Given the description of an element on the screen output the (x, y) to click on. 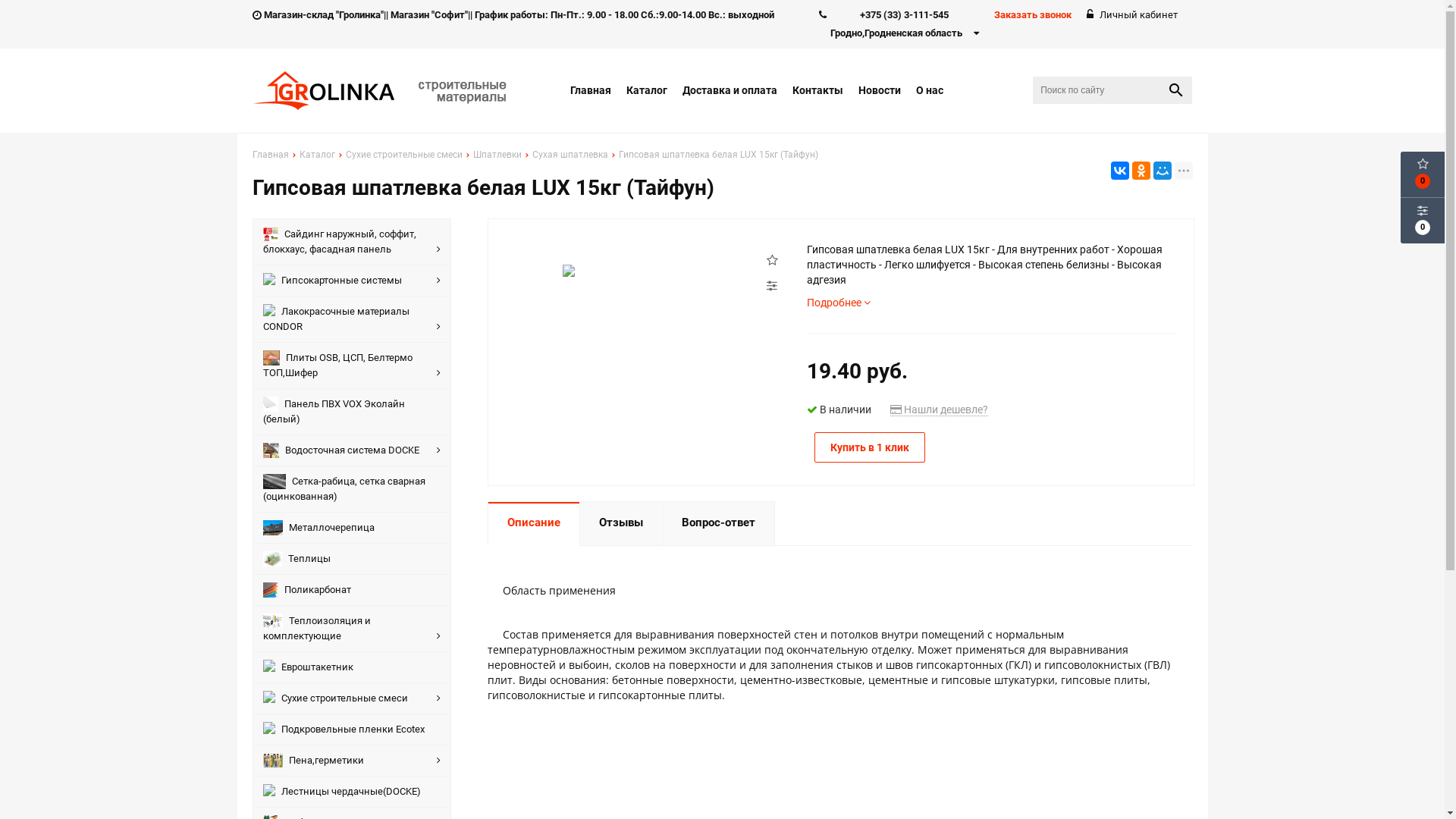
0 Element type: text (1422, 174)
search Element type: text (1176, 89)
0 Element type: text (1422, 220)
